Given the description of an element on the screen output the (x, y) to click on. 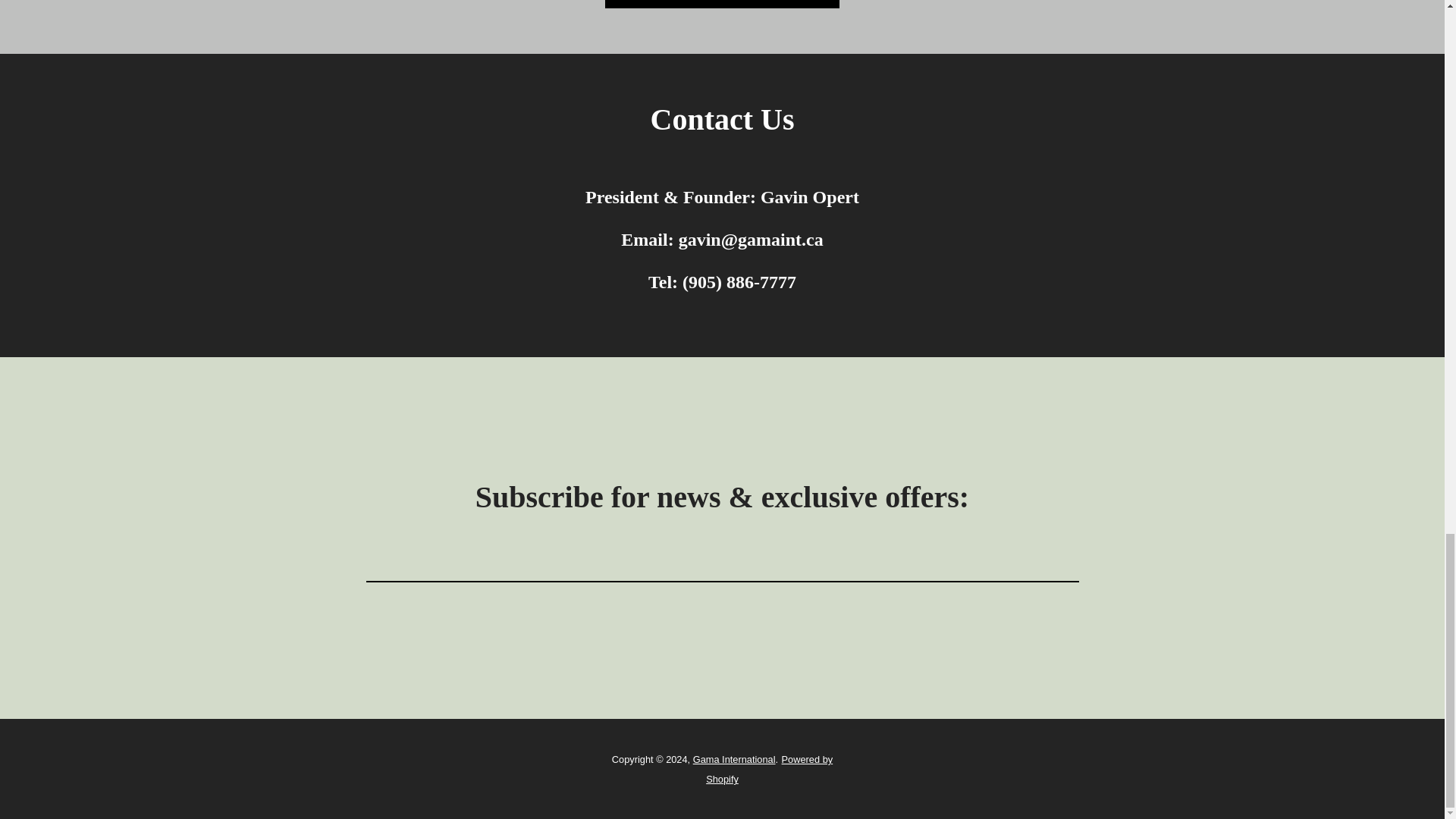
Gama International (734, 758)
SEARCH COLOURED SAPPHIRES (722, 4)
Powered by Shopify (769, 768)
